Given the description of an element on the screen output the (x, y) to click on. 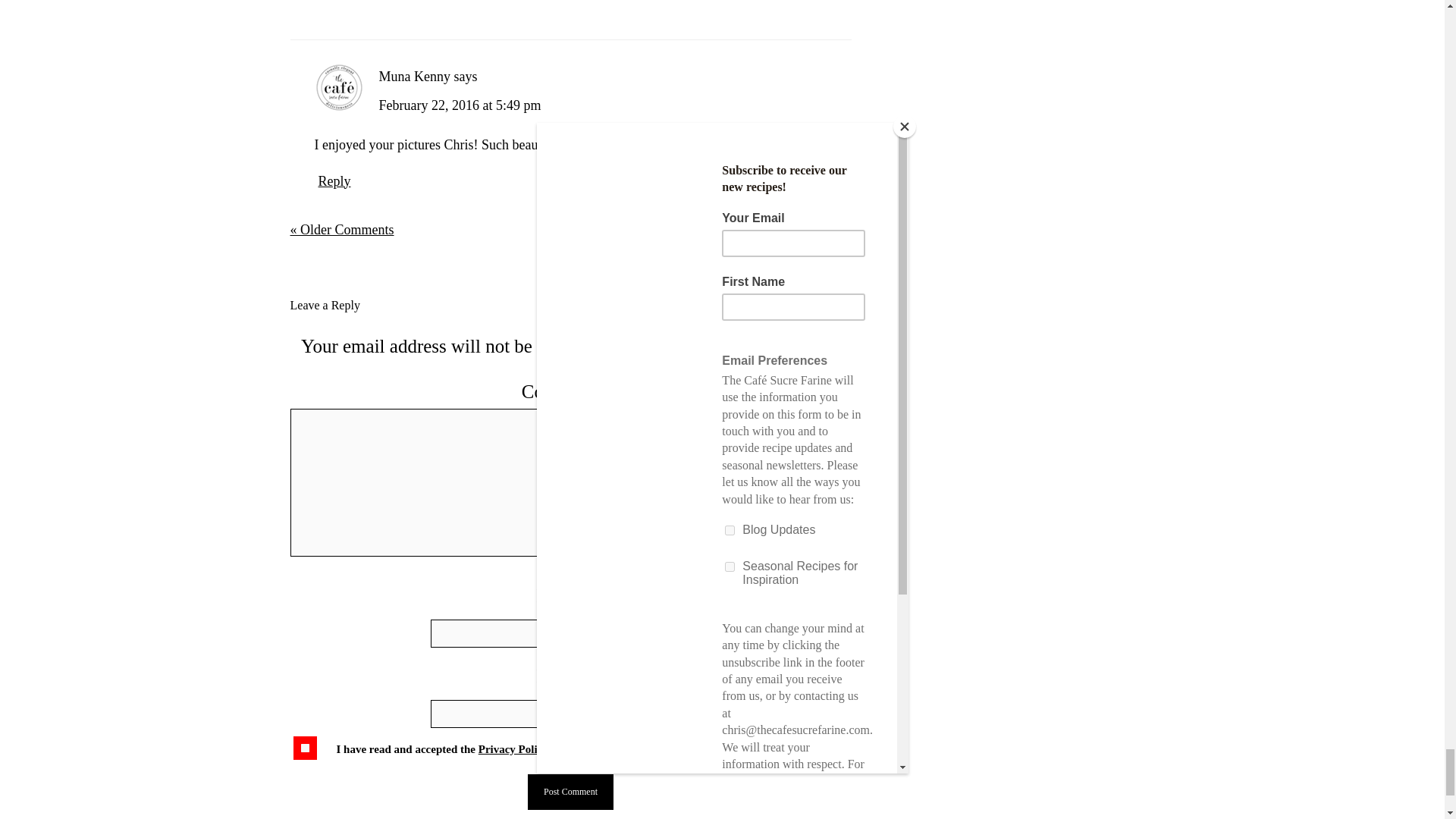
policy-key (304, 747)
Post Comment (569, 791)
